Given the description of an element on the screen output the (x, y) to click on. 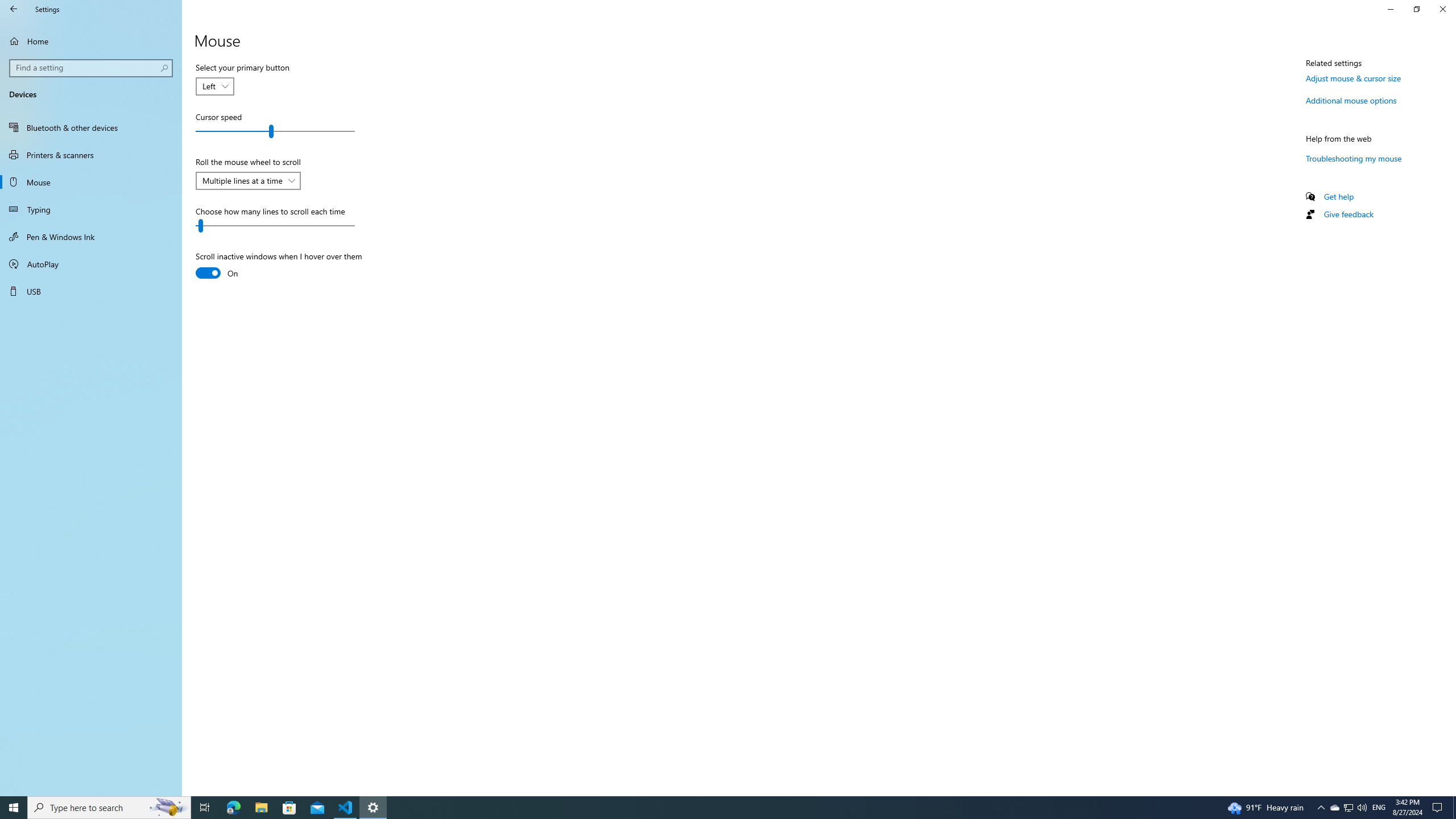
Choose how many lines to scroll each time (275, 226)
Minimize Settings (1390, 9)
USB (91, 290)
AutoPlay (91, 263)
Close Settings (1442, 9)
Give feedback (1348, 213)
Adjust mouse & cursor size (1353, 77)
Back (13, 9)
